Given the description of an element on the screen output the (x, y) to click on. 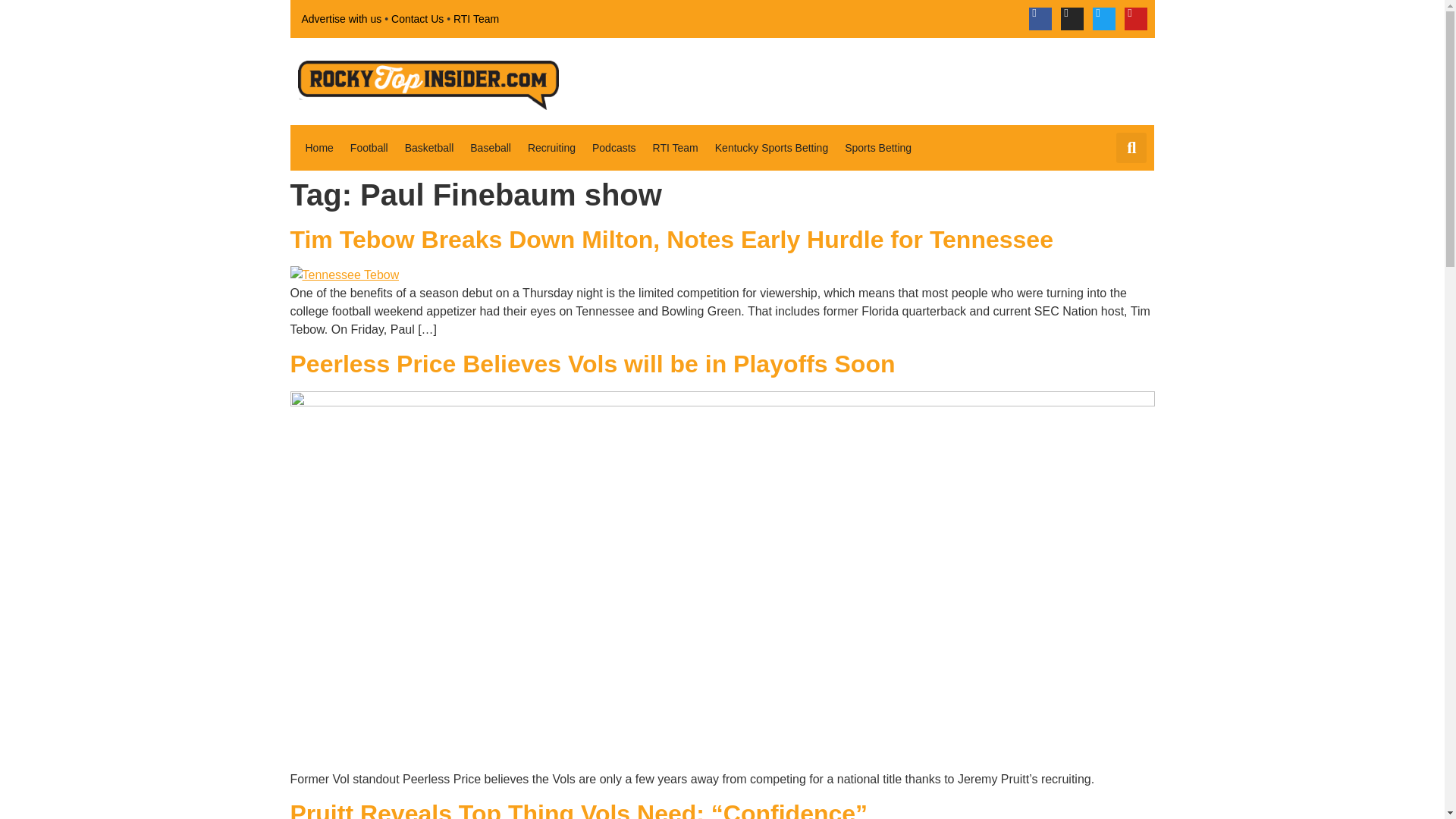
Podcasts (614, 147)
Football (369, 147)
Basketball (429, 147)
Baseball (490, 147)
Recruiting (551, 147)
RTI Team (475, 18)
Home (318, 147)
Advertise with us (341, 18)
RTI Team (675, 147)
Kentucky Sports Betting (771, 147)
